Given the description of an element on the screen output the (x, y) to click on. 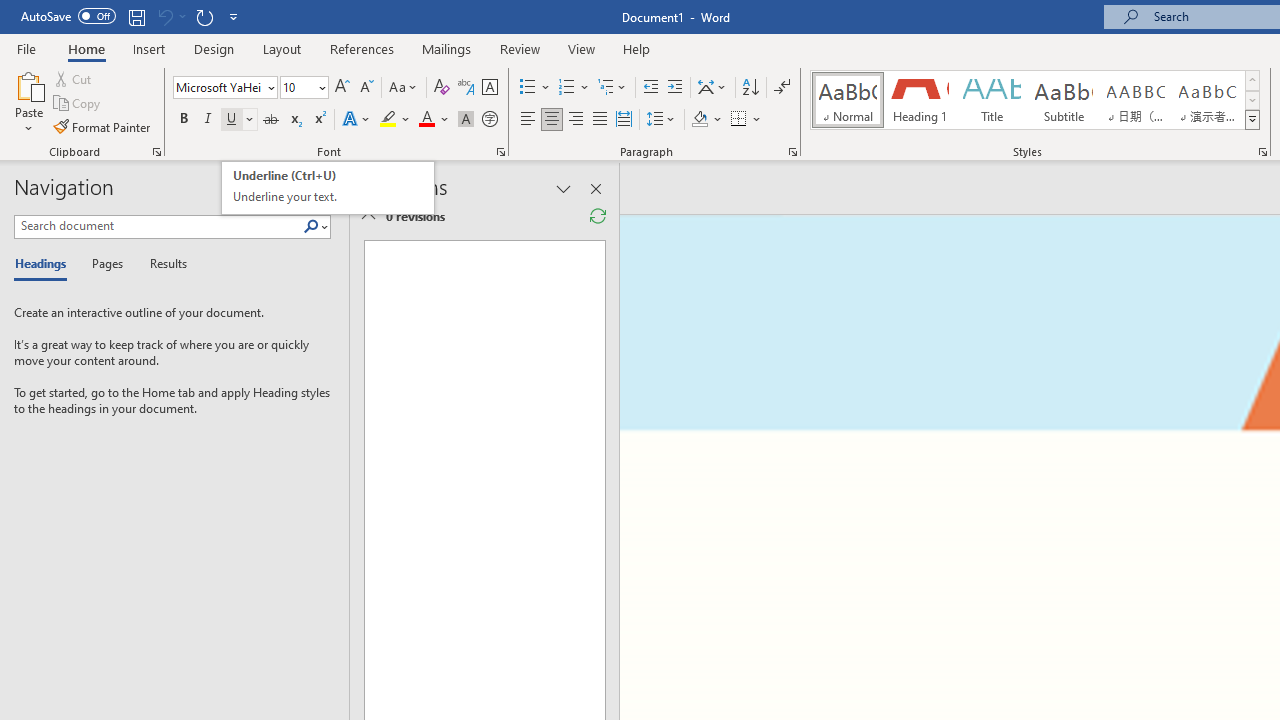
Can't Undo (170, 15)
